Given the description of an element on the screen output the (x, y) to click on. 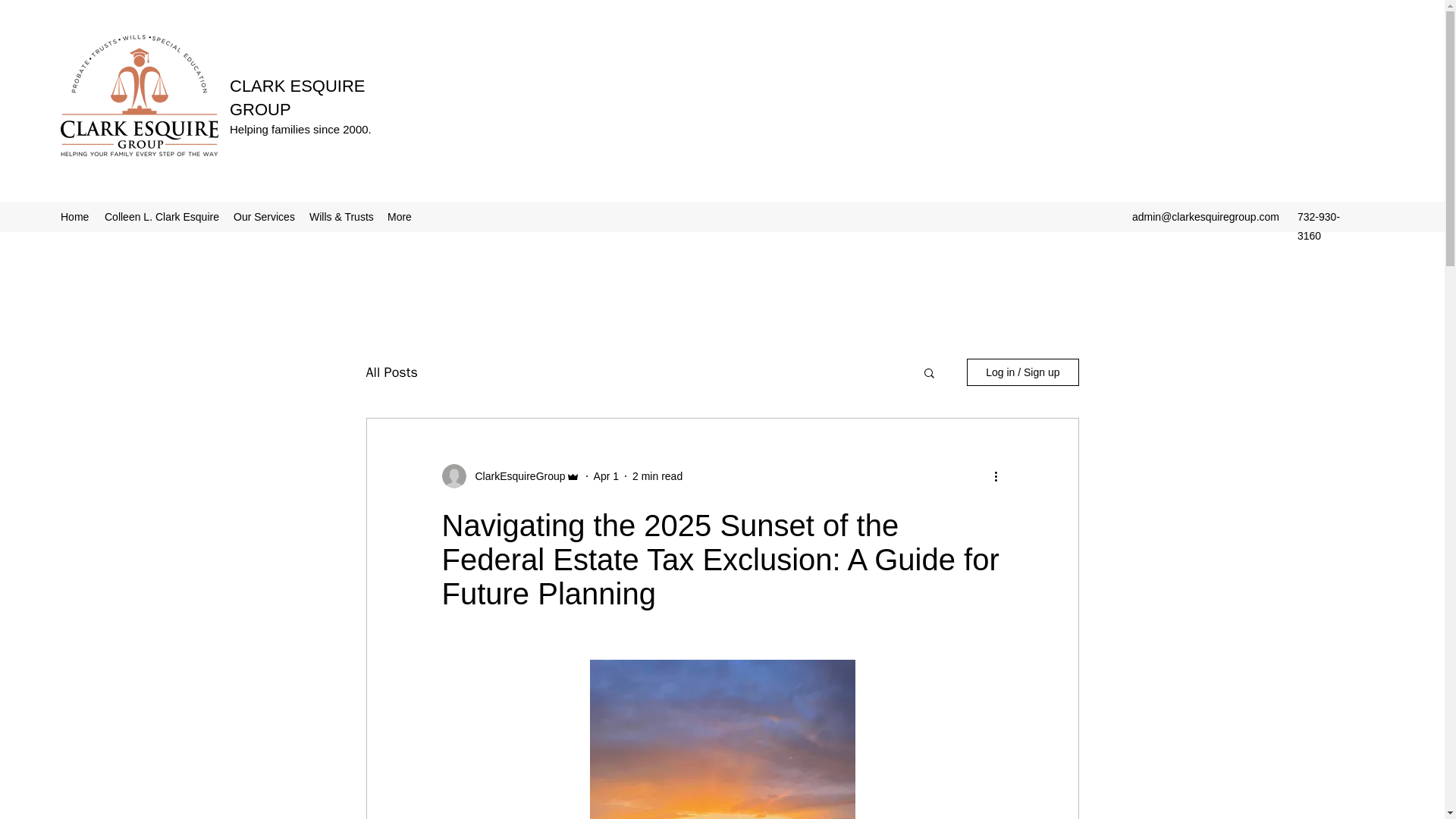
Our Services (263, 216)
CLARK ESQUIRE GROUP (297, 97)
ClarkEsquireGroup (514, 476)
Home (74, 216)
2 min read (656, 476)
Colleen L. Clark Esquire (161, 216)
Apr 1 (606, 476)
All Posts (390, 372)
